Given the description of an element on the screen output the (x, y) to click on. 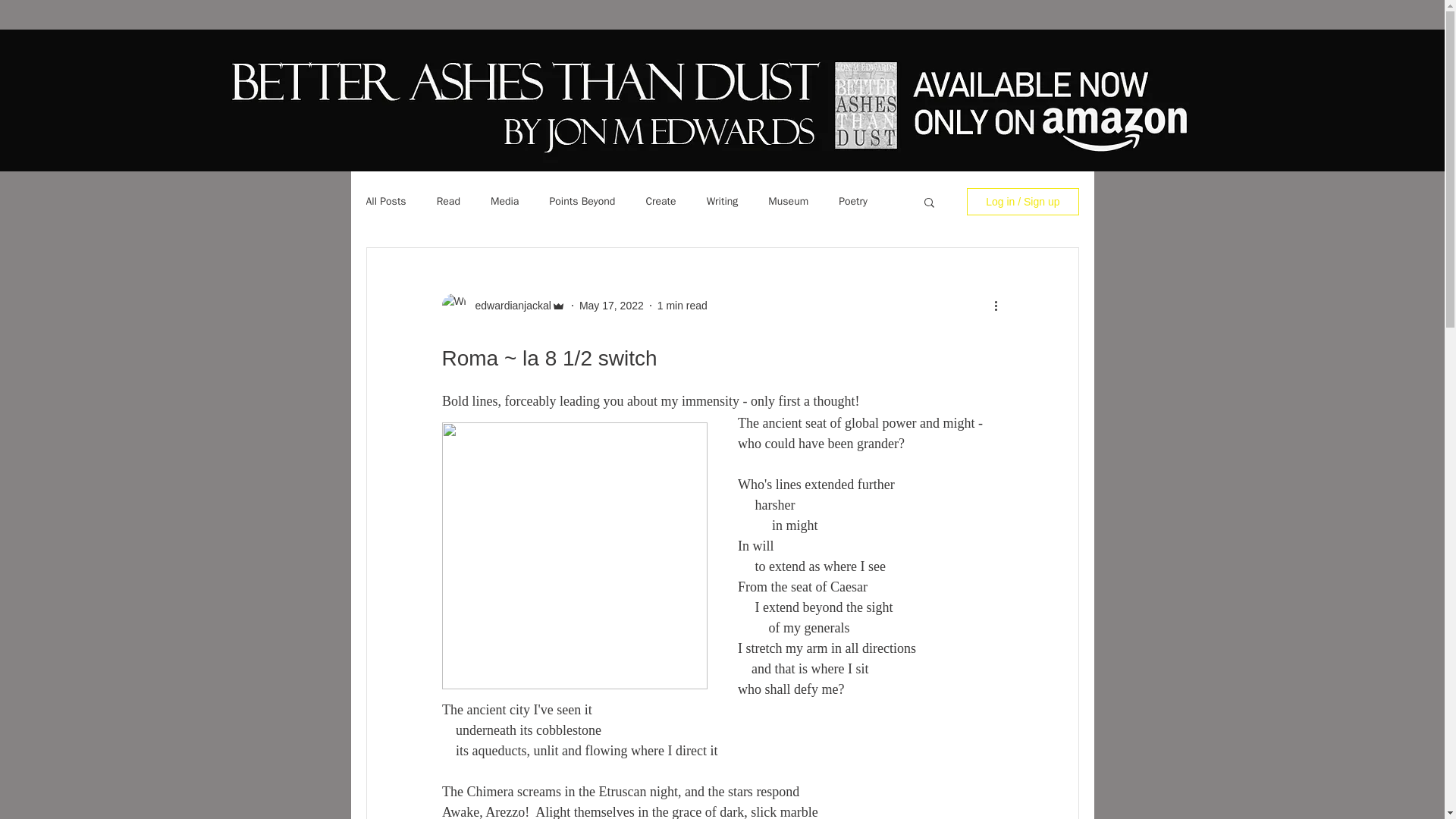
1 min read (682, 304)
Create (660, 201)
Museum (788, 201)
All Posts (385, 201)
Poetry (852, 201)
Writing (722, 201)
Read (448, 201)
Media (504, 201)
Points Beyond (581, 201)
edwardianjackal (507, 304)
May 17, 2022 (611, 304)
